Given the description of an element on the screen output the (x, y) to click on. 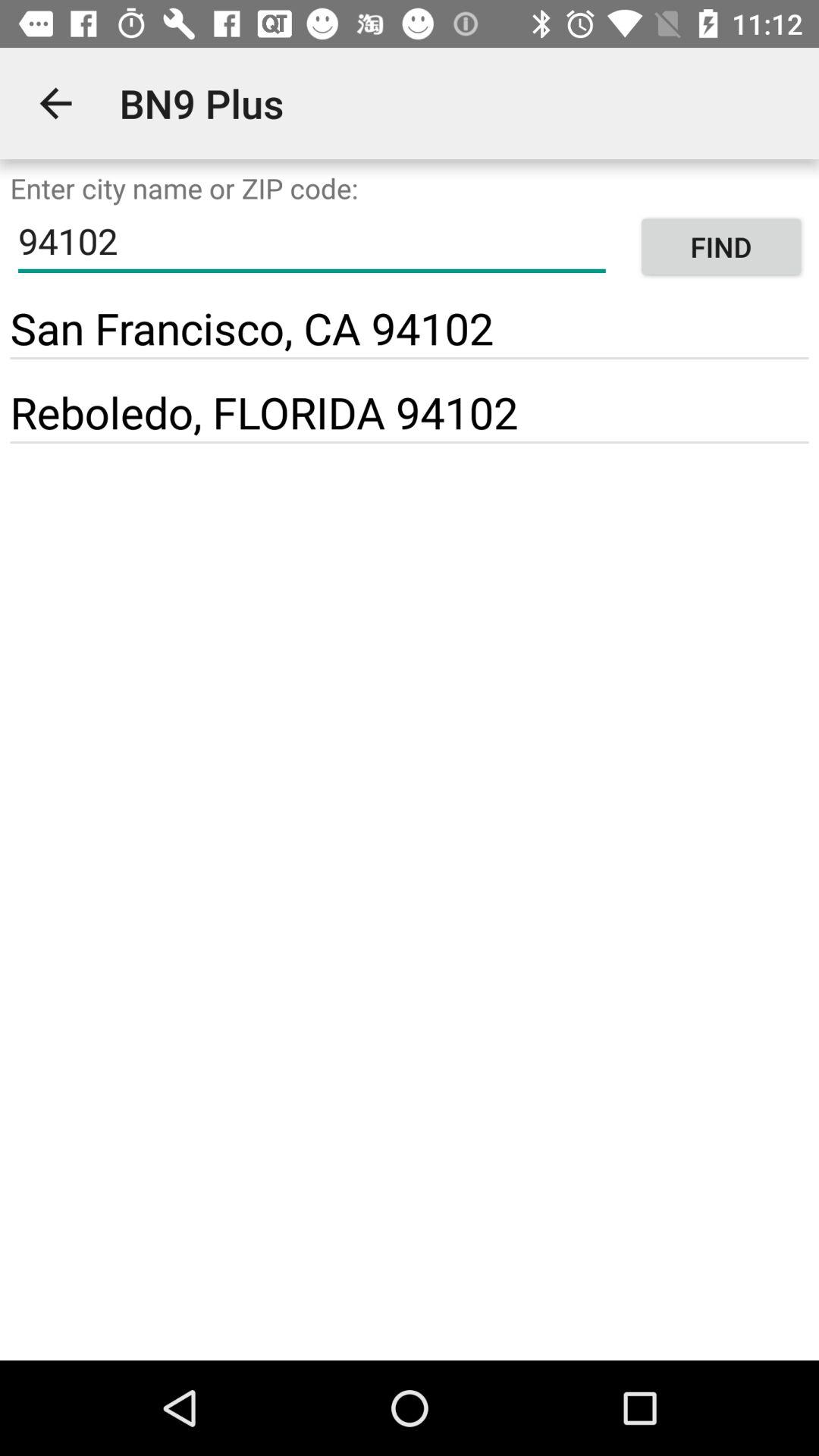
open the icon to the left of bn9 plus (55, 103)
